Given the description of an element on the screen output the (x, y) to click on. 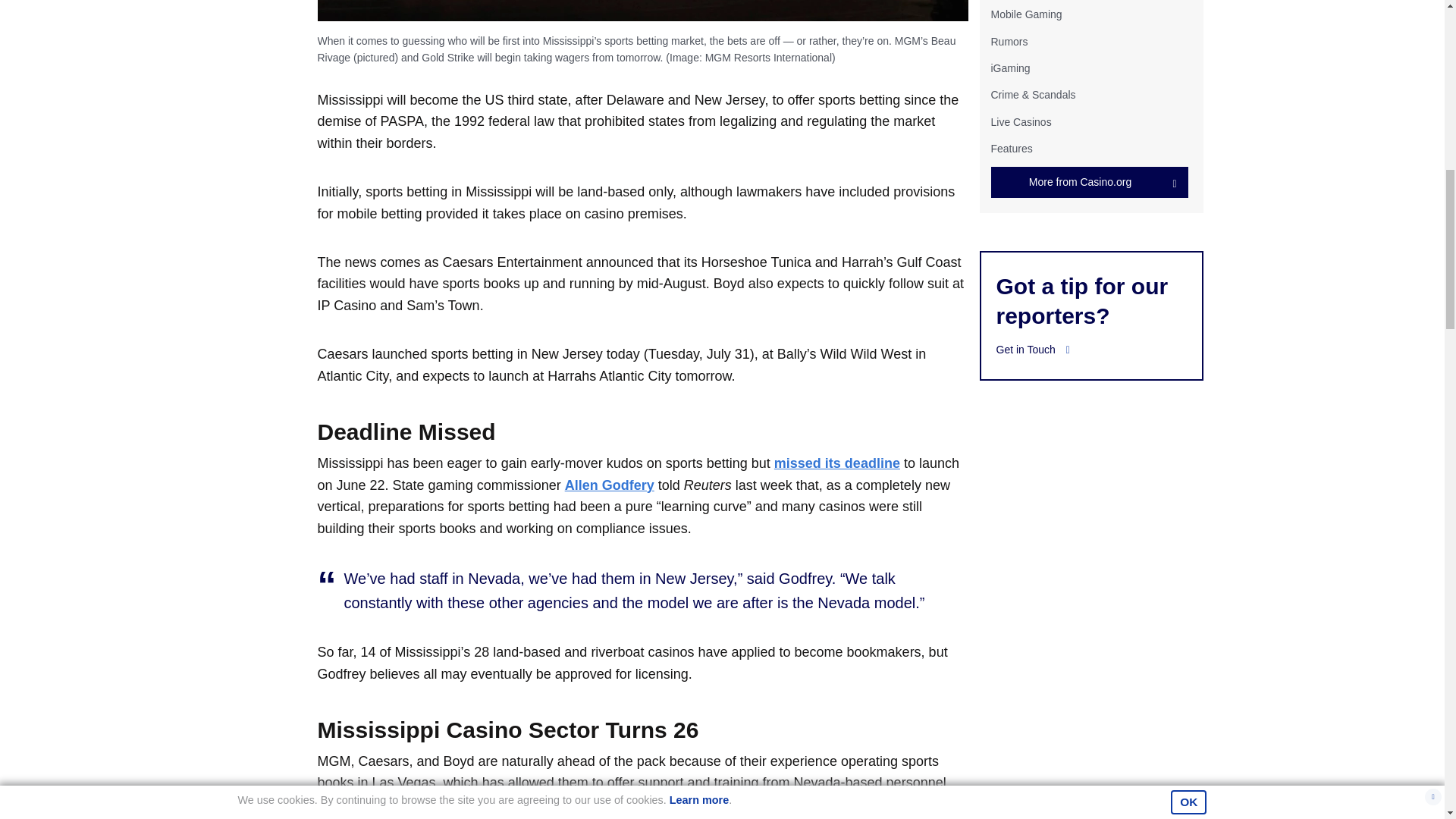
Live Casinos (1020, 121)
Allen Godfery (608, 485)
Features (1011, 148)
iGaming (1009, 68)
Rumors (1008, 41)
missed its deadline (836, 462)
Mobile Gaming (1025, 14)
